Given the description of an element on the screen output the (x, y) to click on. 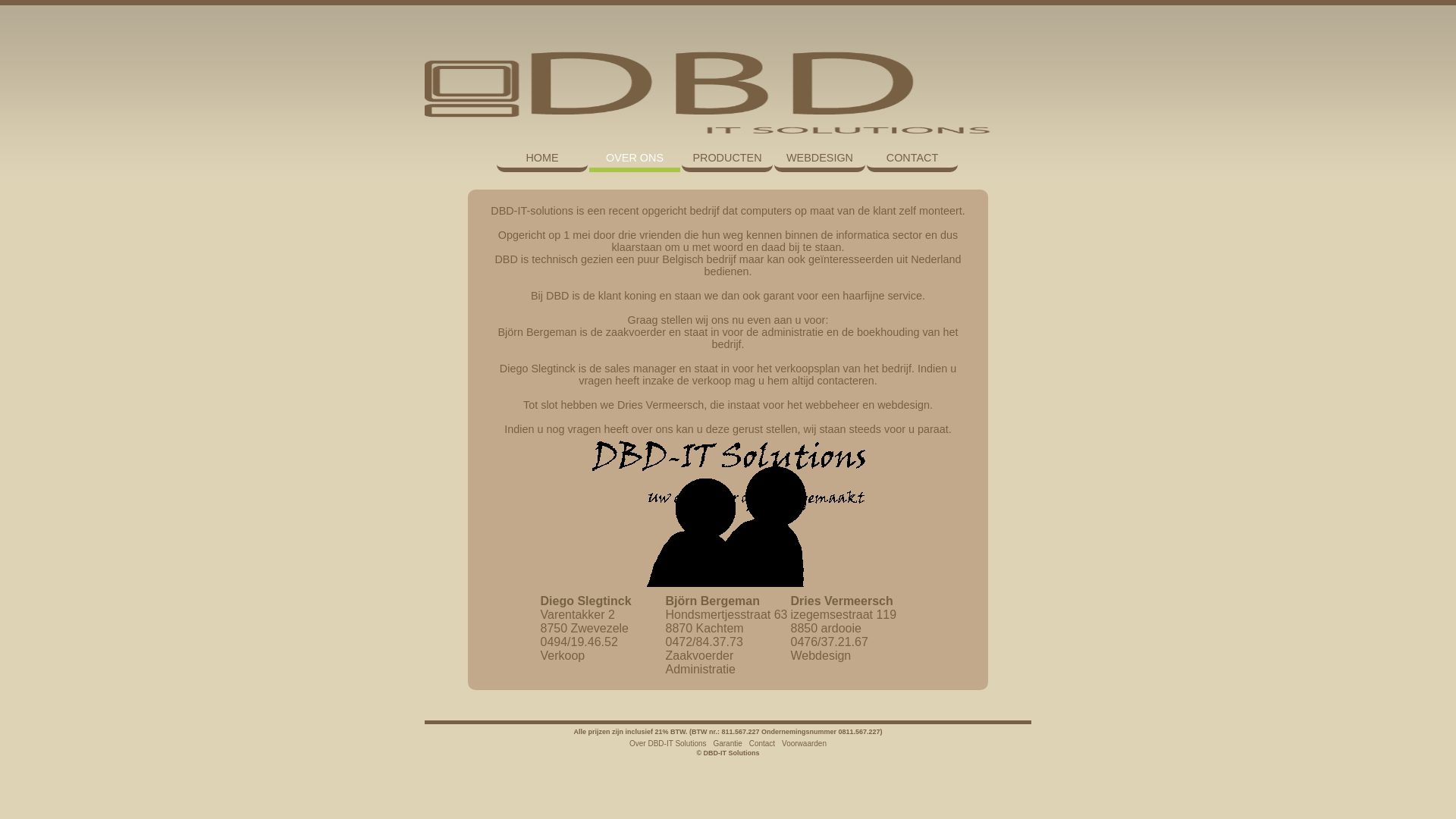
HOME Element type: text (541, 157)
Over DBD-IT Solutions Element type: text (667, 743)
WEBDESIGN Element type: text (819, 157)
PRODUCTEN Element type: text (726, 157)
Contact Element type: text (762, 743)
Voorwaarden Element type: text (803, 743)
Garantie Element type: text (726, 743)
CONTACT Element type: text (912, 157)
